Given the description of an element on the screen output the (x, y) to click on. 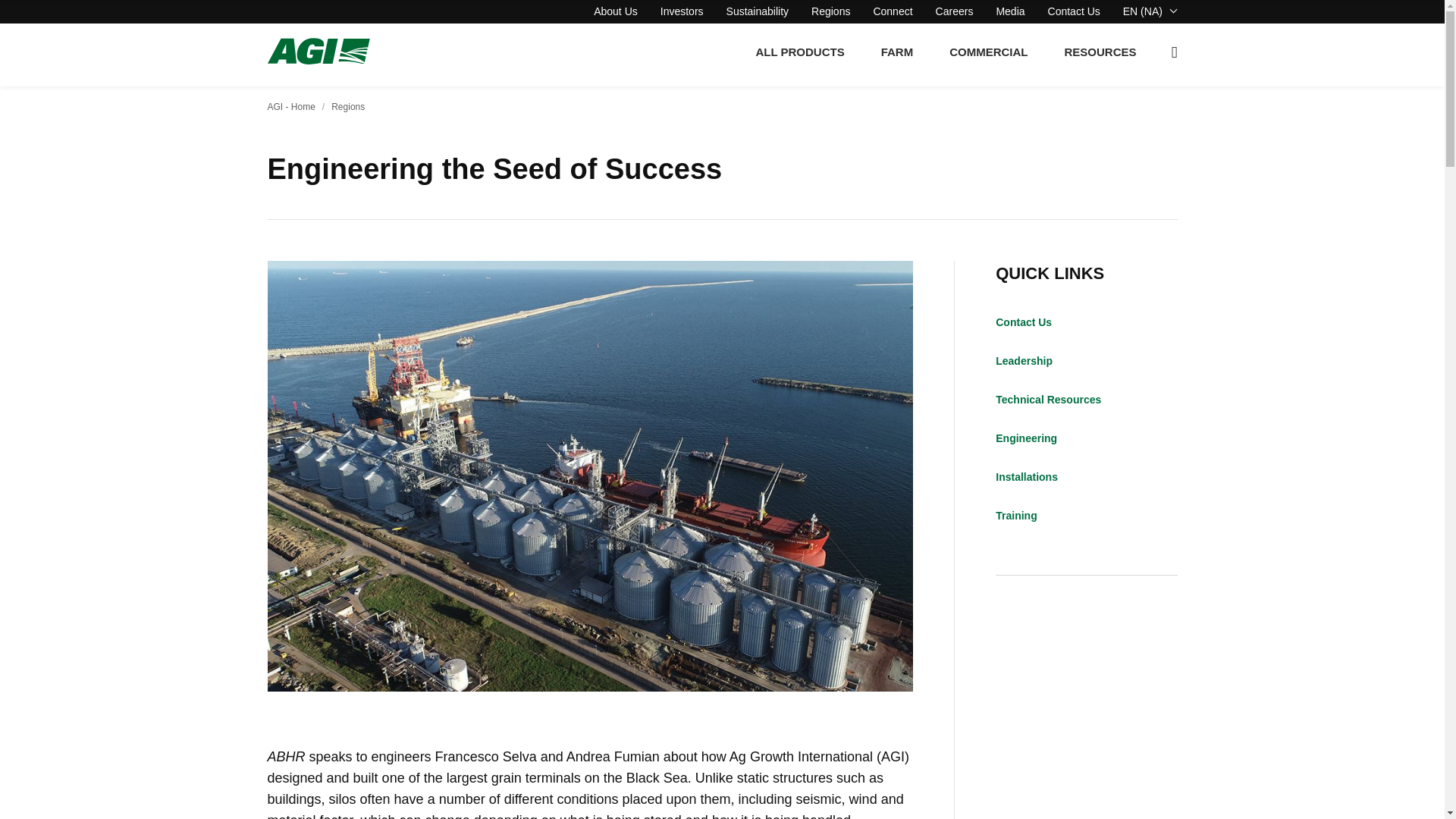
Regions (830, 10)
About Us (615, 10)
Investors (682, 10)
Media (1010, 10)
Careers (955, 10)
Connect (892, 10)
Sustainability (757, 10)
